Given the description of an element on the screen output the (x, y) to click on. 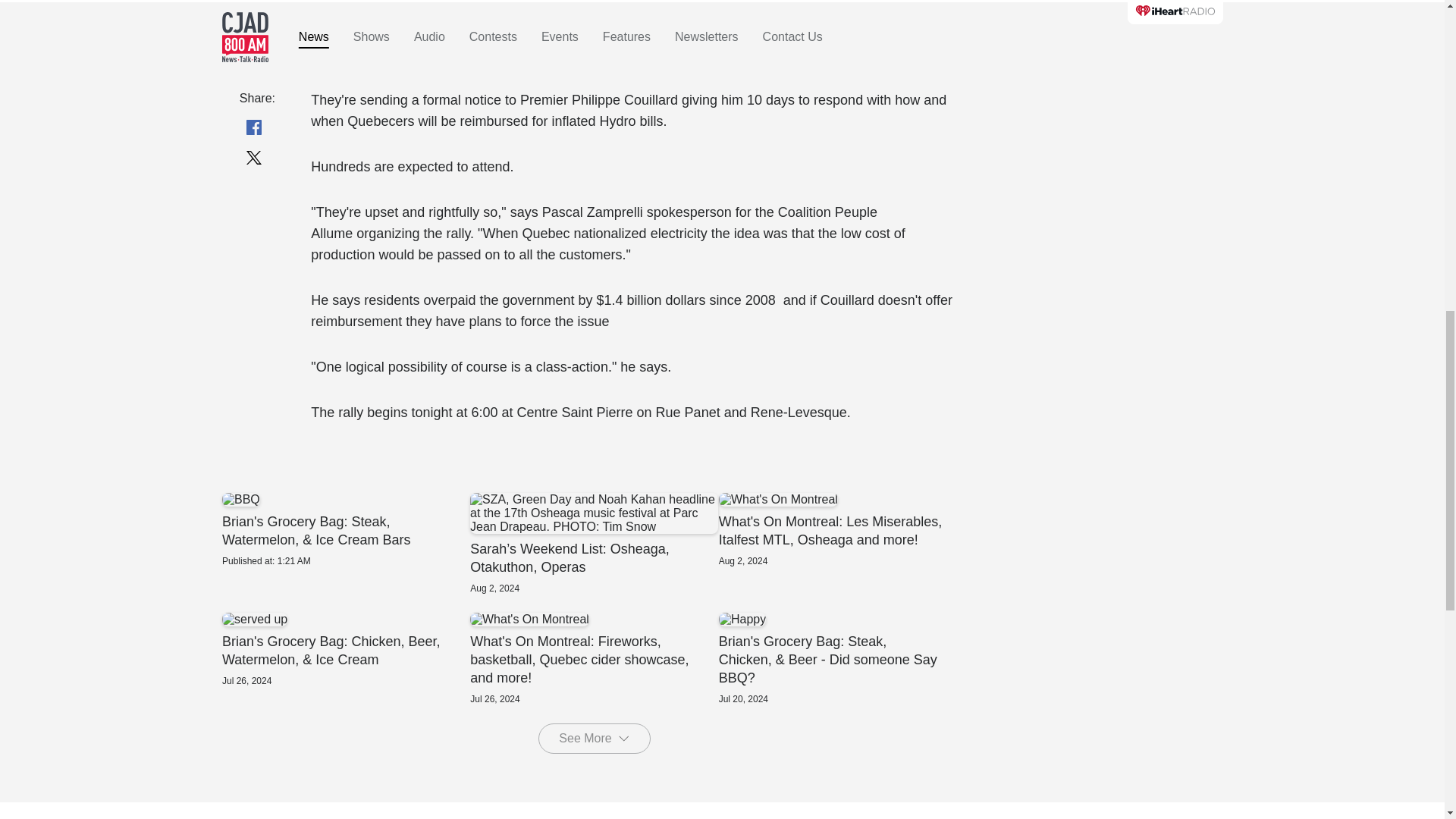
See More (593, 738)
